Given the description of an element on the screen output the (x, y) to click on. 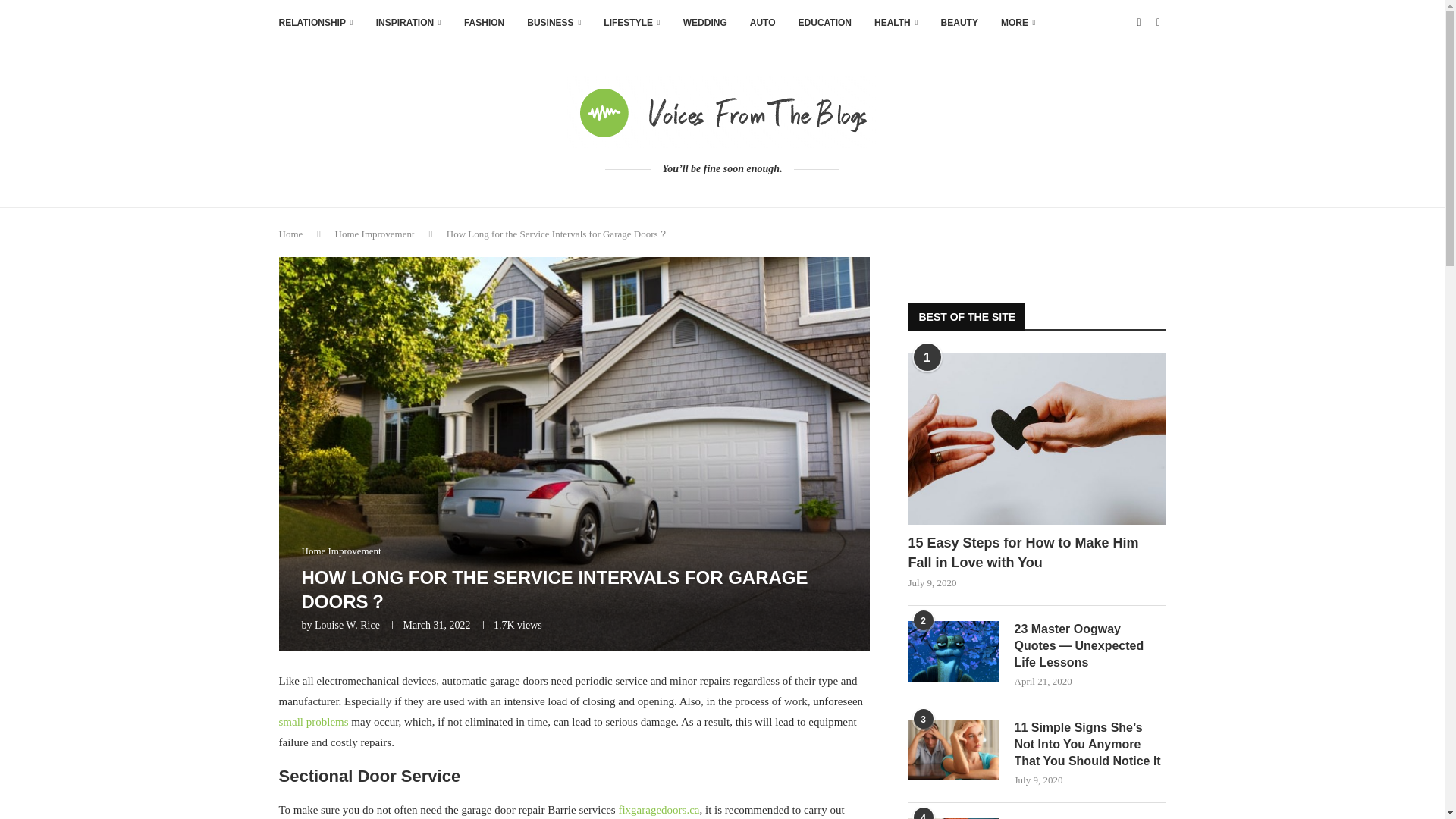
EDUCATION (824, 22)
INSPIRATION (408, 22)
WEDDING (704, 22)
LIFESTYLE (631, 22)
RELATIONSHIP (316, 22)
Home (290, 233)
HEALTH (896, 22)
Home Improvement (341, 551)
Home Improvement (374, 233)
BUSINESS (553, 22)
FASHION (483, 22)
